Given the description of an element on the screen output the (x, y) to click on. 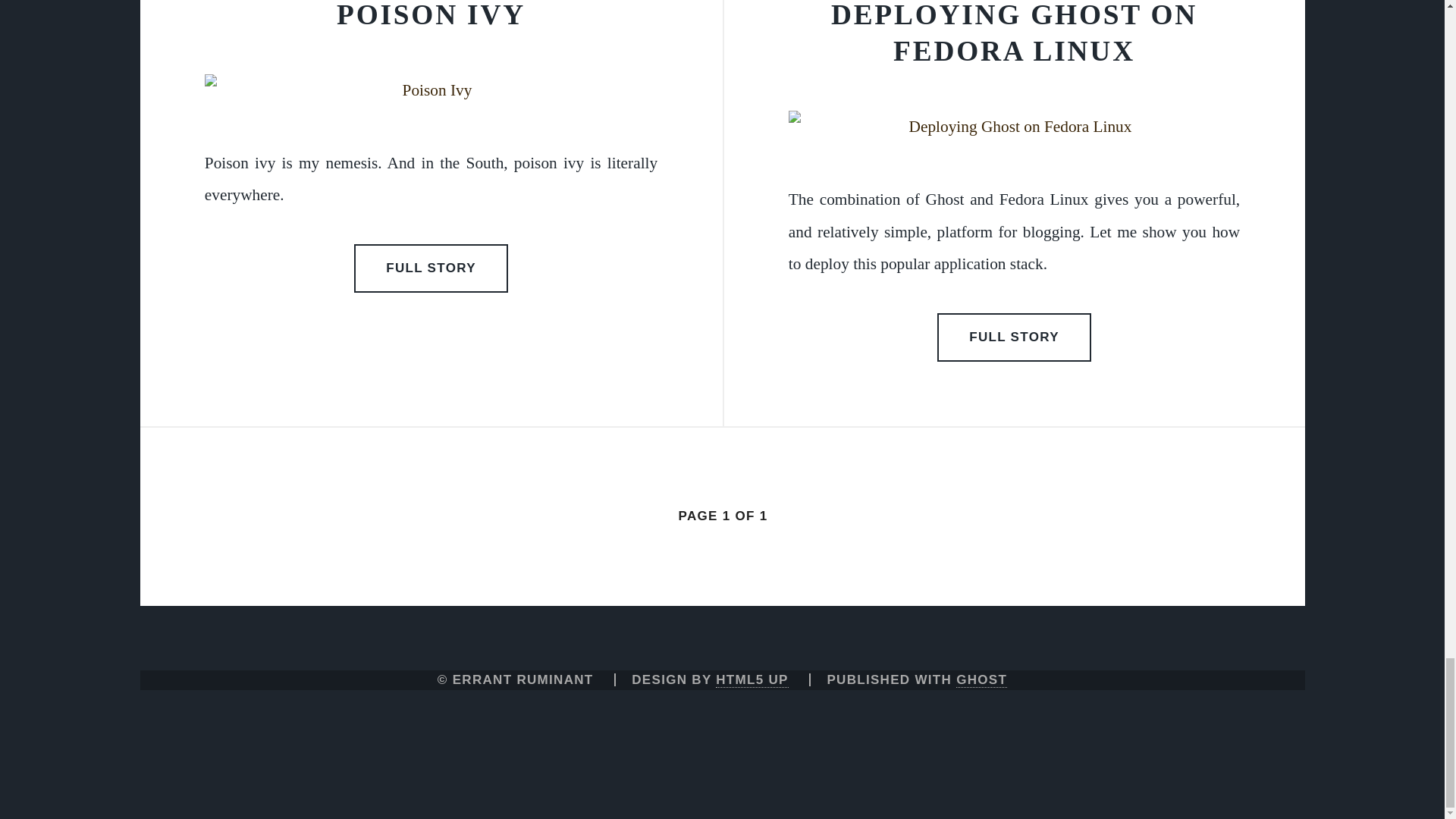
HTML5 UP (751, 679)
FULL STORY (430, 268)
GHOST (981, 679)
DEPLOYING GHOST ON FEDORA LINUX (1013, 33)
FULL STORY (1014, 336)
POISON IVY (430, 15)
